Given the description of an element on the screen output the (x, y) to click on. 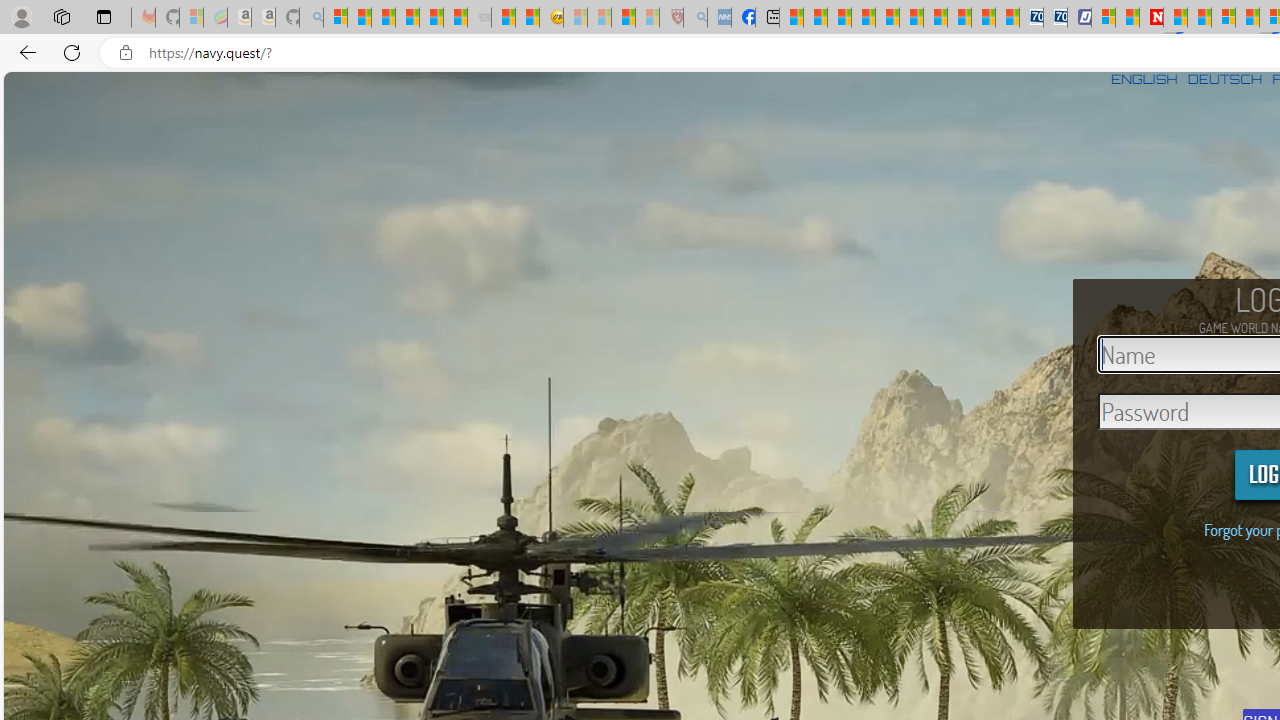
12 Popular Science Lies that Must be Corrected - Sleeping (647, 17)
